Given the description of an element on the screen output the (x, y) to click on. 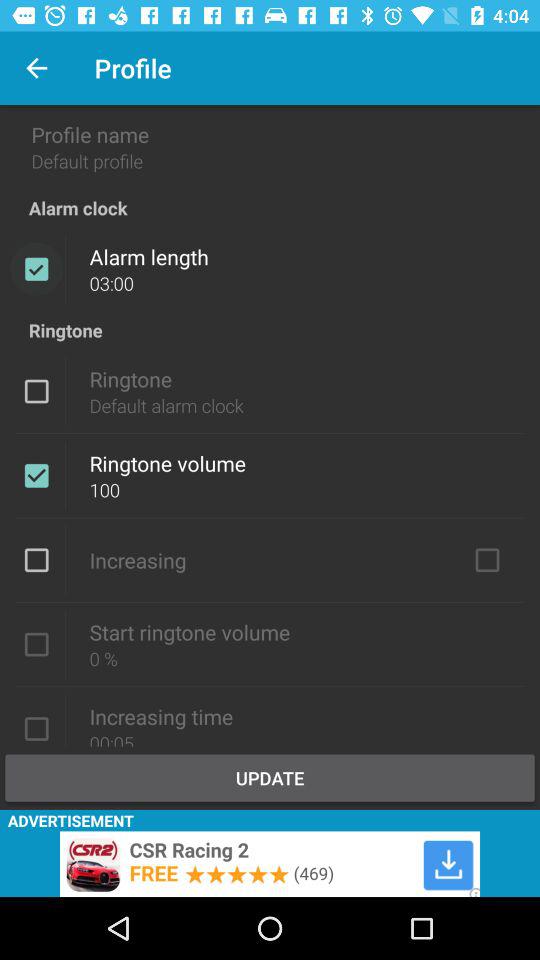
toggle ringtone sound (36, 391)
